Given the description of an element on the screen output the (x, y) to click on. 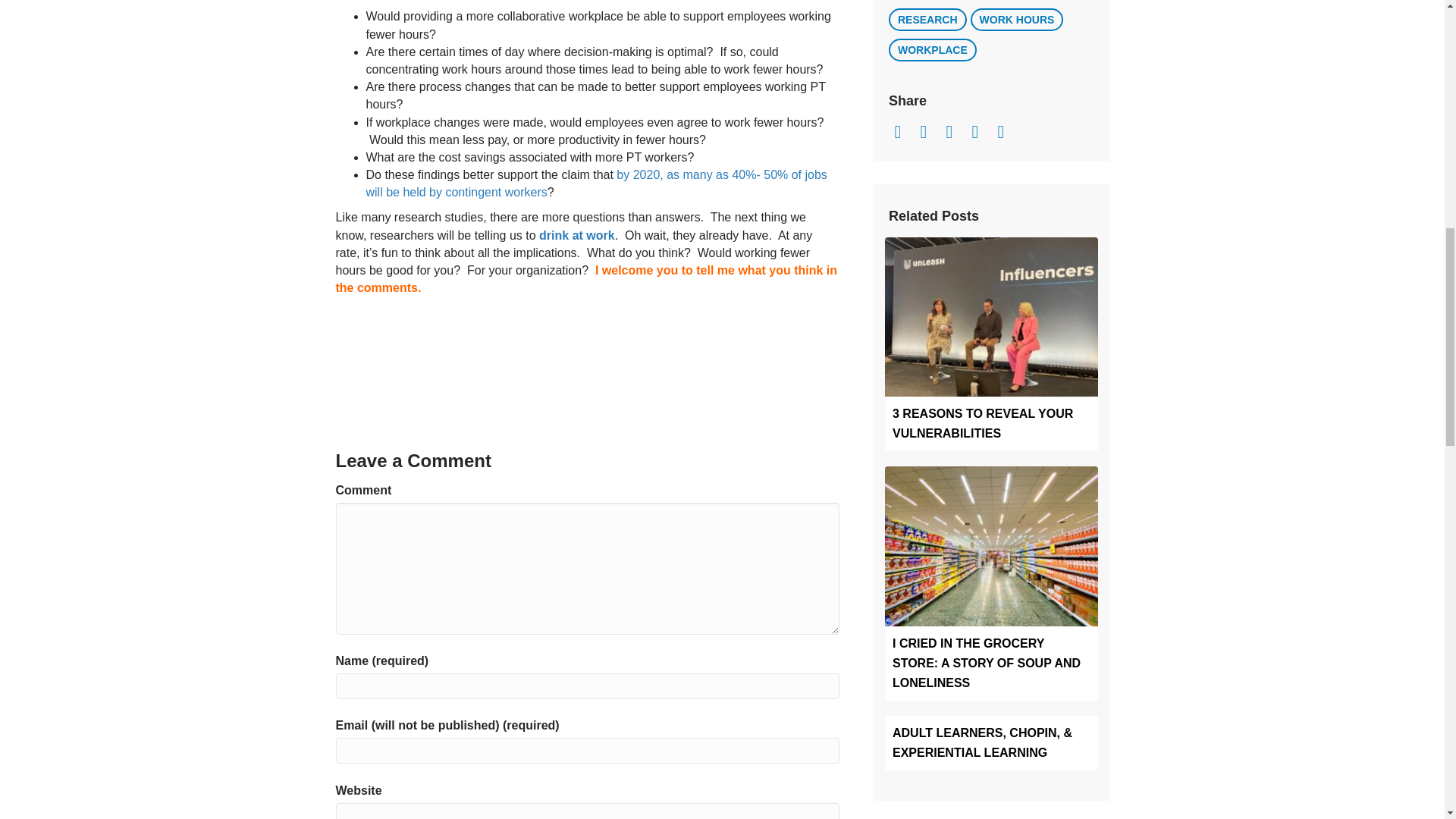
3 Reasons To Reveal Your Vulnerabilities (982, 423)
WORK HOURS (1017, 19)
RESEARCH (927, 19)
WORKPLACE (932, 49)
drink at work (576, 235)
I Cried in the Grocery Store: A Story of Soup and Loneliness (986, 663)
3 Reasons To Reveal Your Vulnerabilities (991, 315)
I Cried in the Grocery Store: A Story of Soup and Loneliness (991, 545)
